Given the description of an element on the screen output the (x, y) to click on. 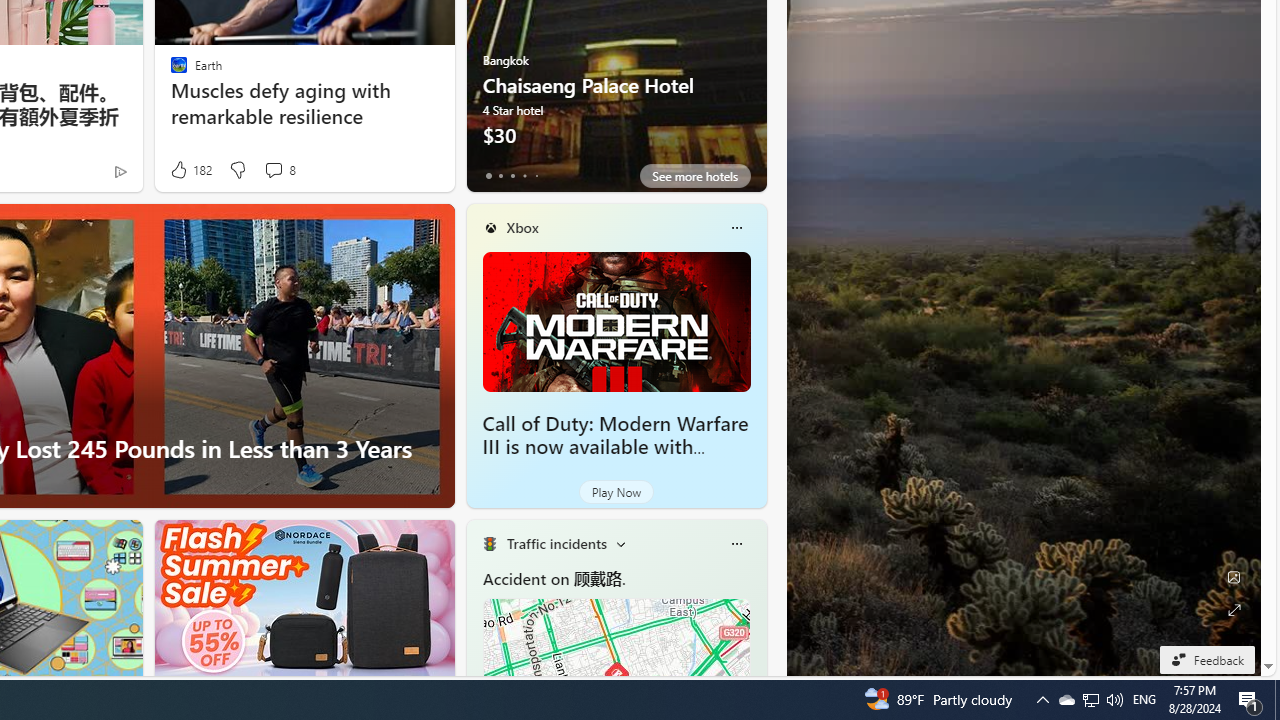
tab-0 (488, 175)
Traffic Title Traffic Light (489, 543)
Edit Background (1233, 577)
Xbox (521, 227)
View comments 8 Comment (279, 170)
More options (736, 543)
tab-1 (500, 175)
tab-3 (524, 175)
Class: icon-img (736, 543)
Change scenarios (620, 543)
View comments 8 Comment (273, 169)
tab-2 (511, 175)
Play Now (616, 491)
